Given the description of an element on the screen output the (x, y) to click on. 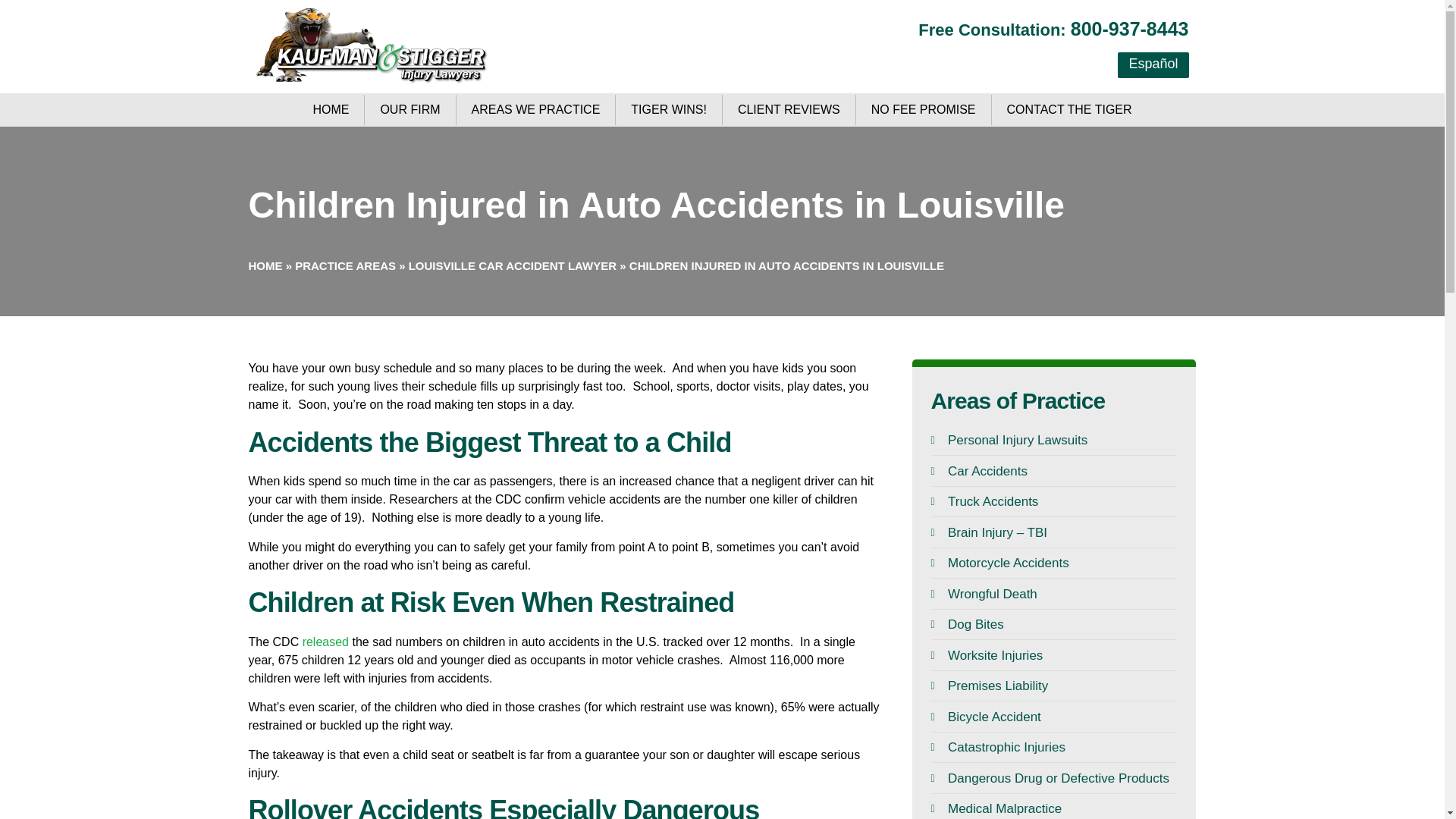
800-937-8443 (1129, 29)
CONTACT THE TIGER (1069, 109)
OUR FIRM (409, 109)
HOME (330, 109)
AREAS WE PRACTICE (536, 109)
CLIENT REVIEWS (789, 109)
NO FEE PROMISE (923, 109)
TIGER WINS! (668, 109)
